Given the description of an element on the screen output the (x, y) to click on. 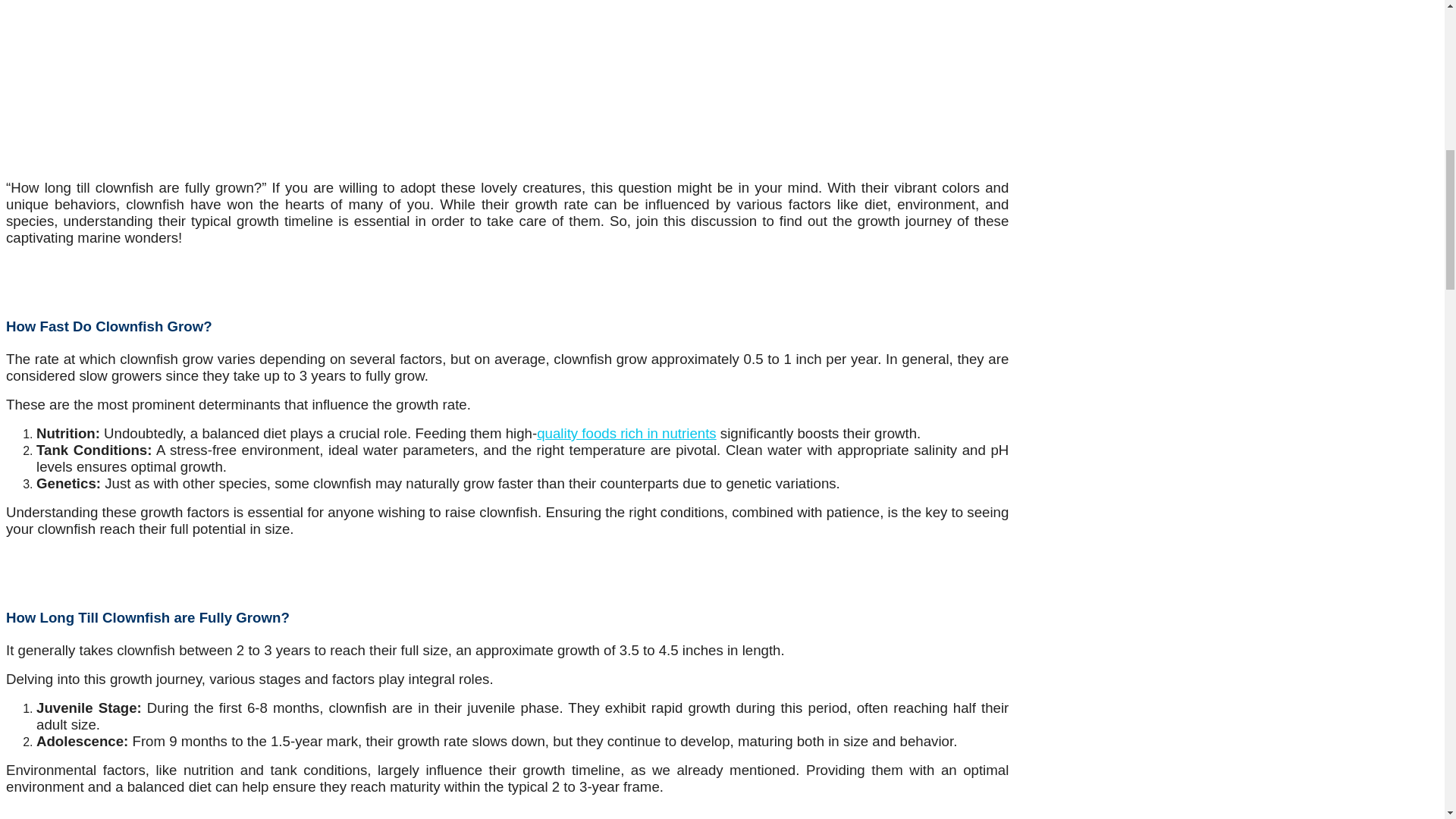
quality foods rich in nutrients (626, 433)
